Given the description of an element on the screen output the (x, y) to click on. 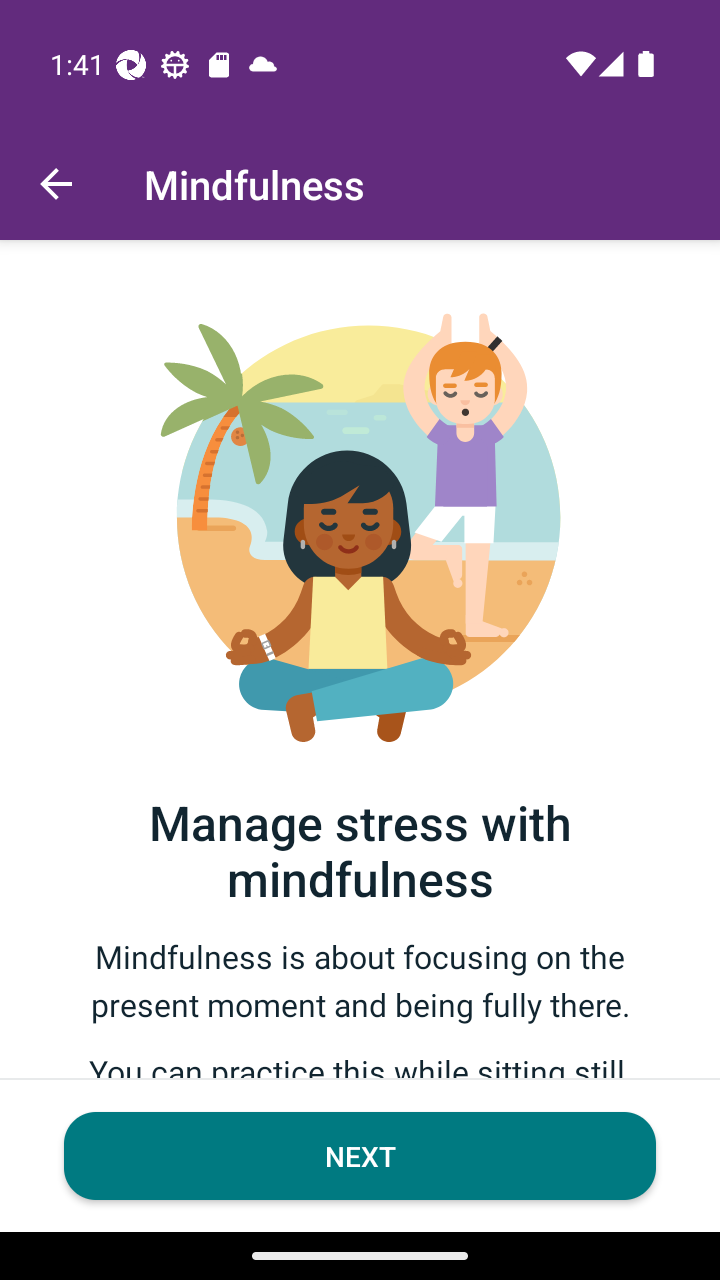
Navigate up (56, 184)
NEXT (359, 1156)
